Given the description of an element on the screen output the (x, y) to click on. 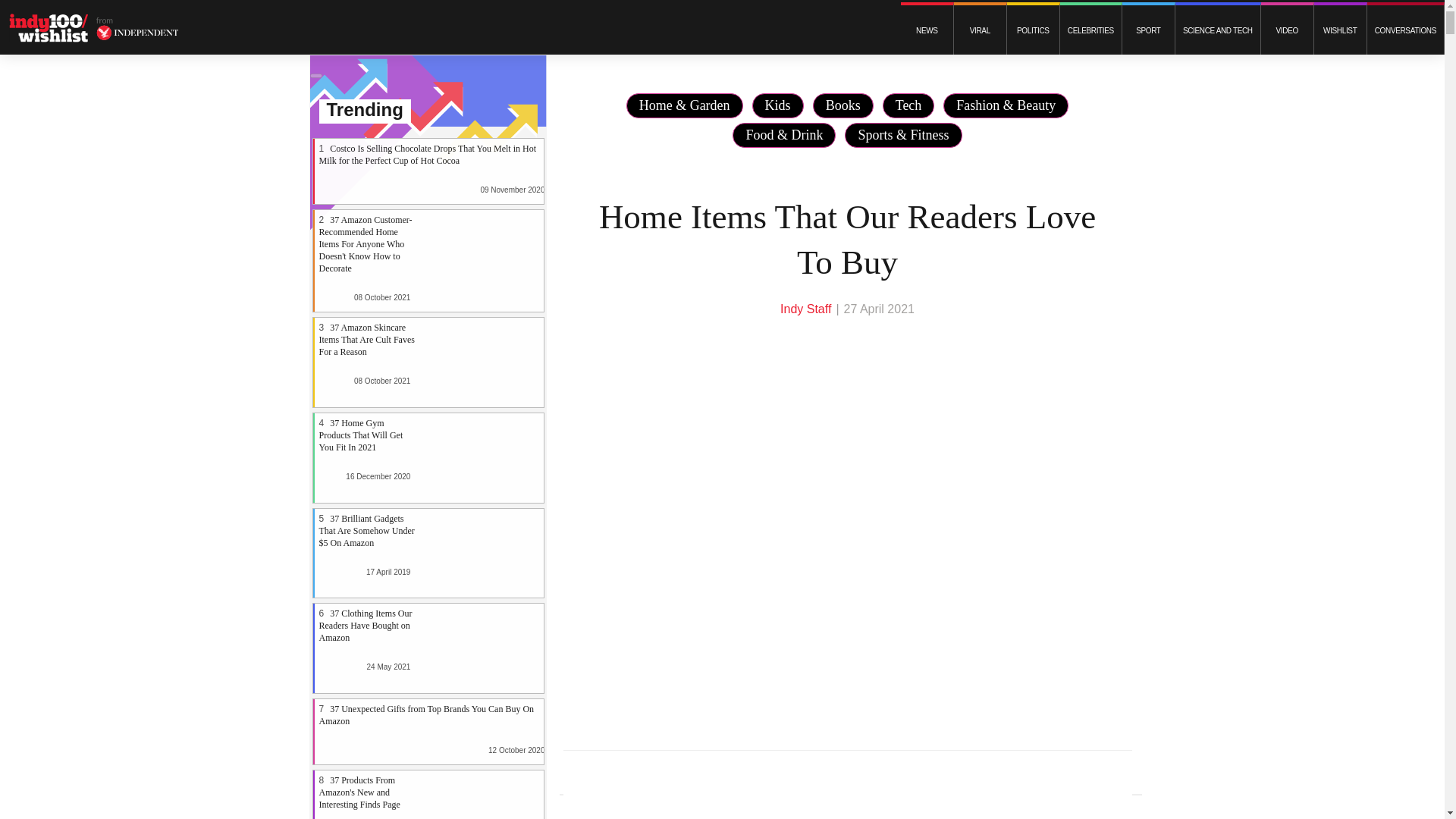
CONVERSATIONS (1405, 30)
Viral (979, 30)
Kids (777, 105)
Sport (1148, 30)
VIRAL (979, 30)
Wishlist (1340, 30)
SPORT (1148, 30)
Tech (908, 105)
WISHLIST (1340, 30)
NEWS (927, 30)
Science and Tech (1217, 30)
CELEBRITIES (1090, 30)
Conversations (1405, 30)
POLITICS (1033, 30)
Video (1286, 30)
